Given the description of an element on the screen output the (x, y) to click on. 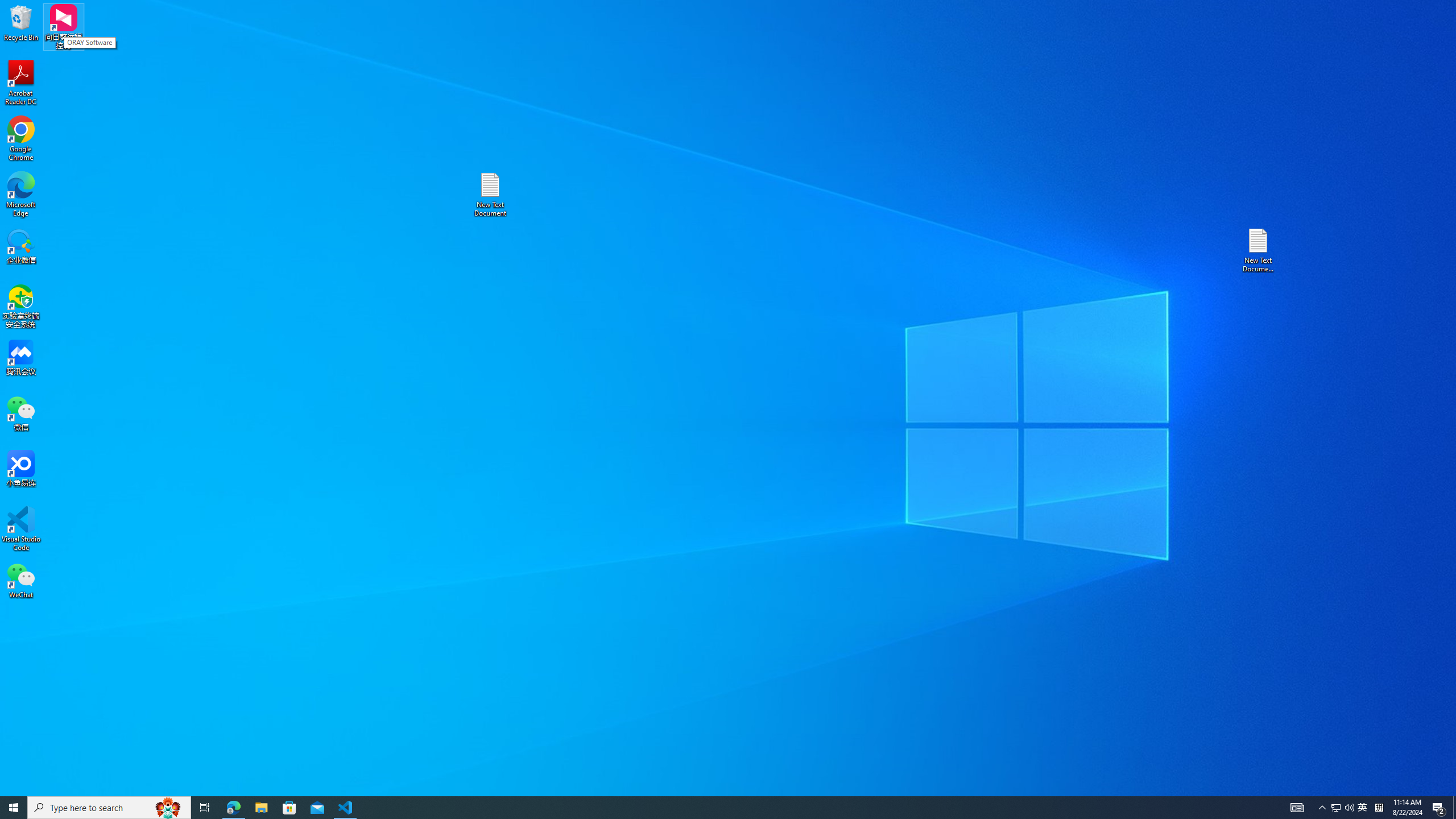
File Explorer (1335, 807)
Tray Input Indicator - Chinese (Simplified, China) (261, 807)
Action Center, 2 new notifications (1378, 807)
